Given the description of an element on the screen output the (x, y) to click on. 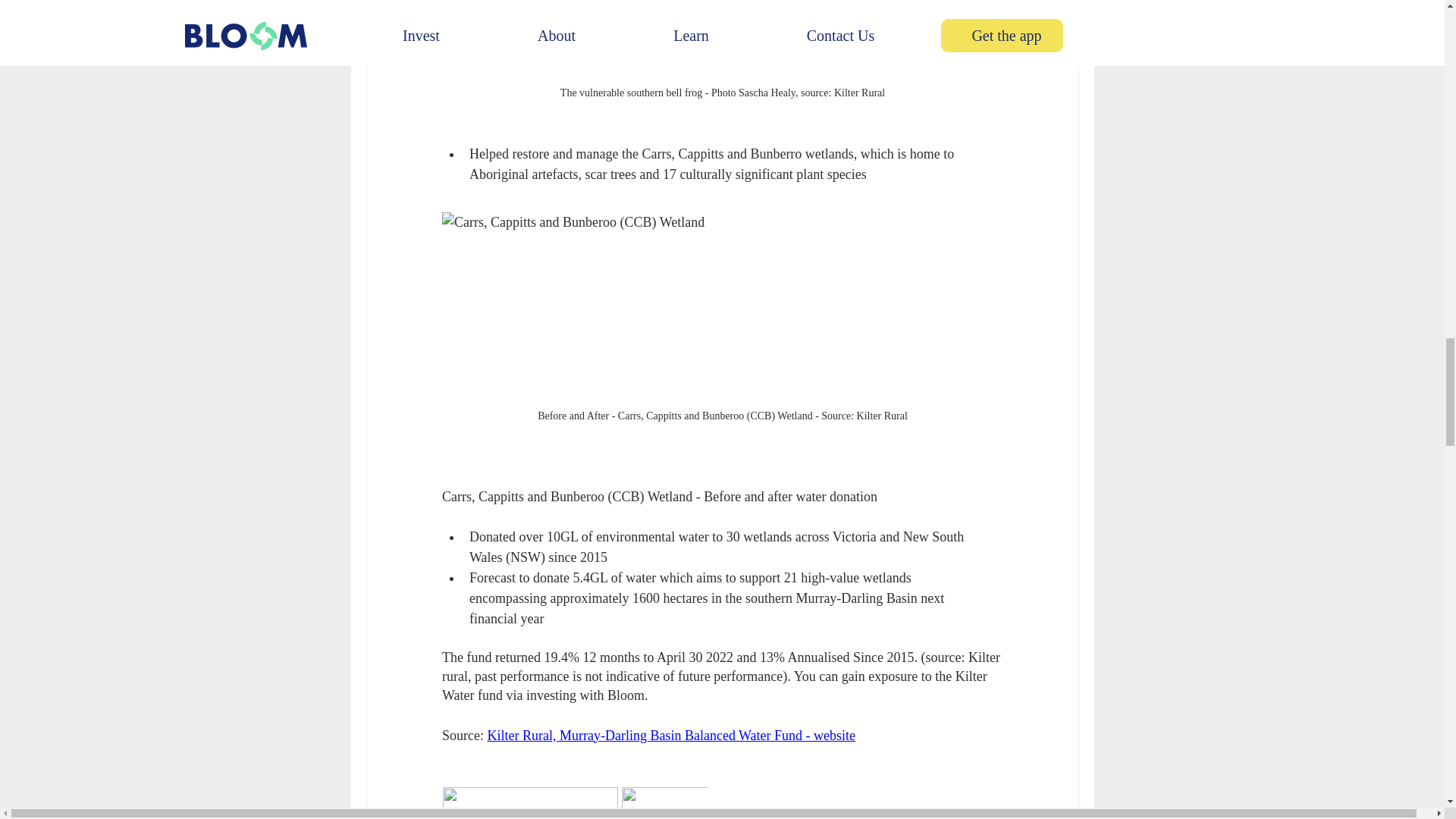
Kilter Rural,  (522, 735)
ebsite (840, 735)
Murray-Darling Basin Balanced Water Fund - w (690, 735)
